Given the description of an element on the screen output the (x, y) to click on. 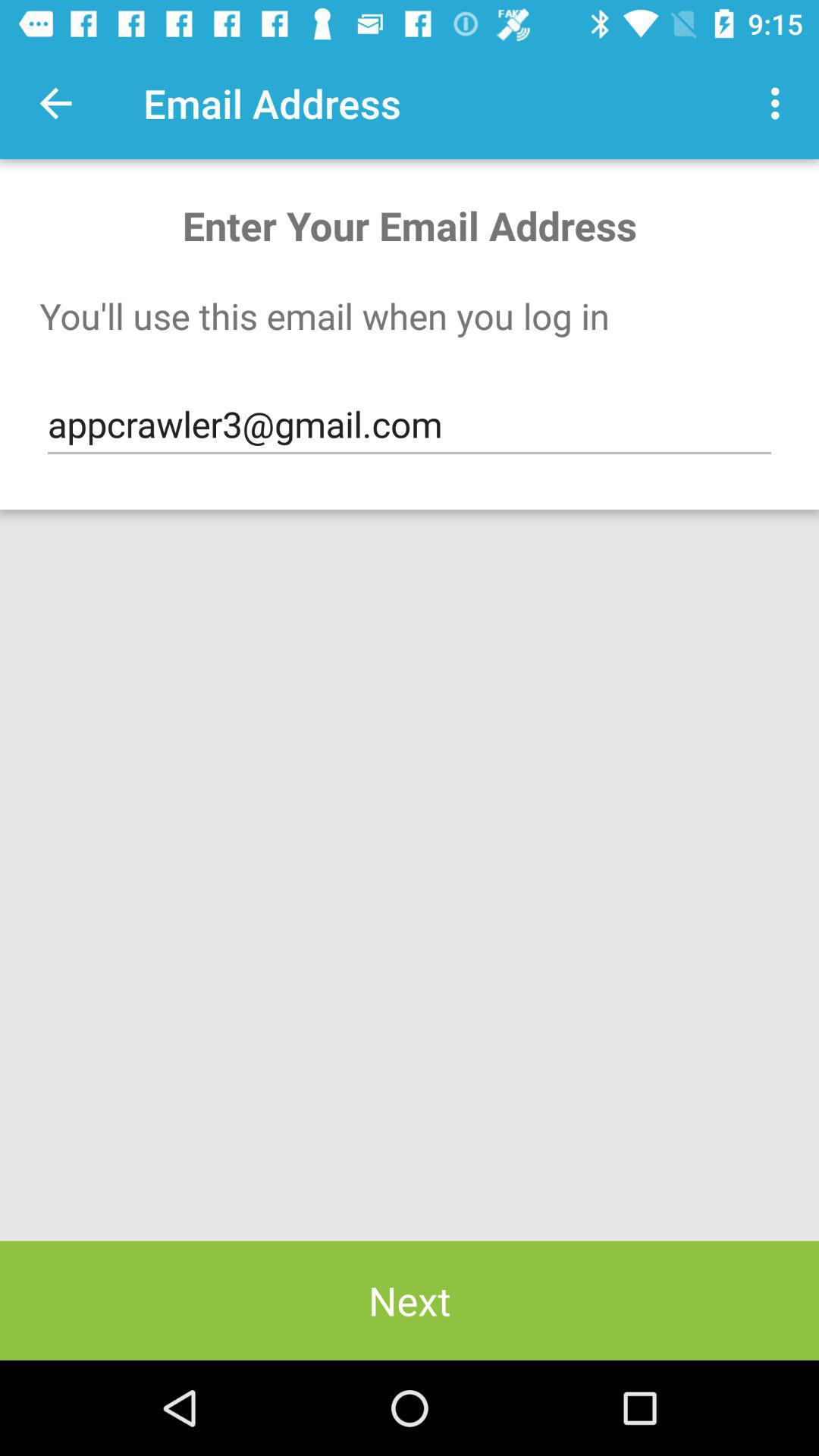
open the appcrawler3@gmail.com item (409, 424)
